Given the description of an element on the screen output the (x, y) to click on. 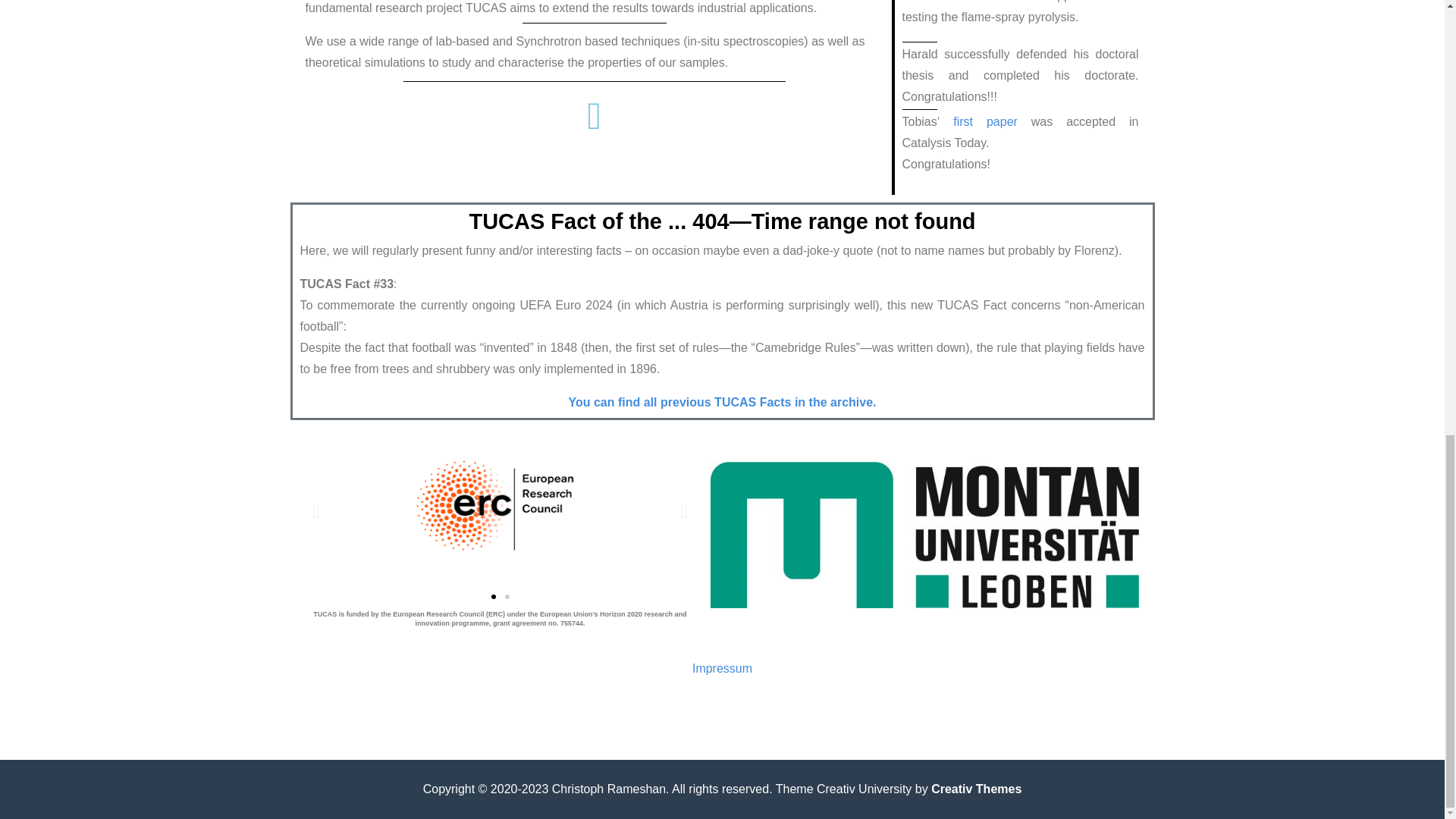
Creativ Themes (976, 788)
Impressum (722, 667)
You can find all previous TUCAS Facts in the archive. (721, 401)
first paper (985, 121)
